Given the description of an element on the screen output the (x, y) to click on. 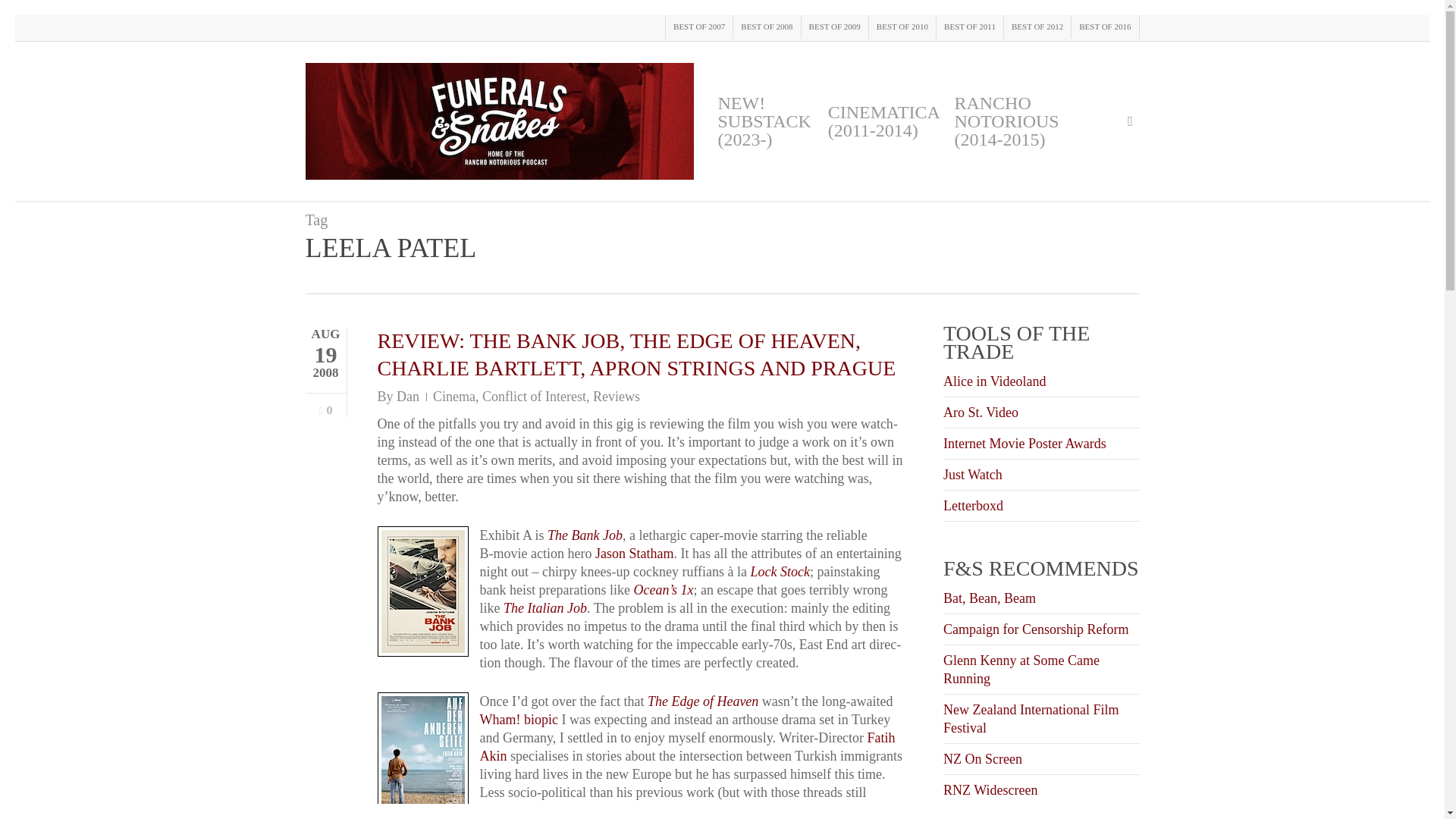
BEST OF 2016 (1104, 26)
BEST OF 2009 (833, 26)
Lock Stock (780, 571)
Fatih Akin (687, 746)
The Bank Job official UK site (585, 534)
lock Stock and Two Smoking Barrels at Aro St (780, 571)
The Edge of Heaven official UK site (702, 701)
0 (324, 410)
George Michael 'may thwart Wham! film' Guardian (518, 719)
BEST OF 2012 (1036, 26)
Ocean's 11 at Aro St (663, 589)
Fatih Akin at Aro St (687, 746)
Love this (324, 410)
BEST OF 2011 (969, 26)
Conflict of Interest (533, 396)
